Given the description of an element on the screen output the (x, y) to click on. 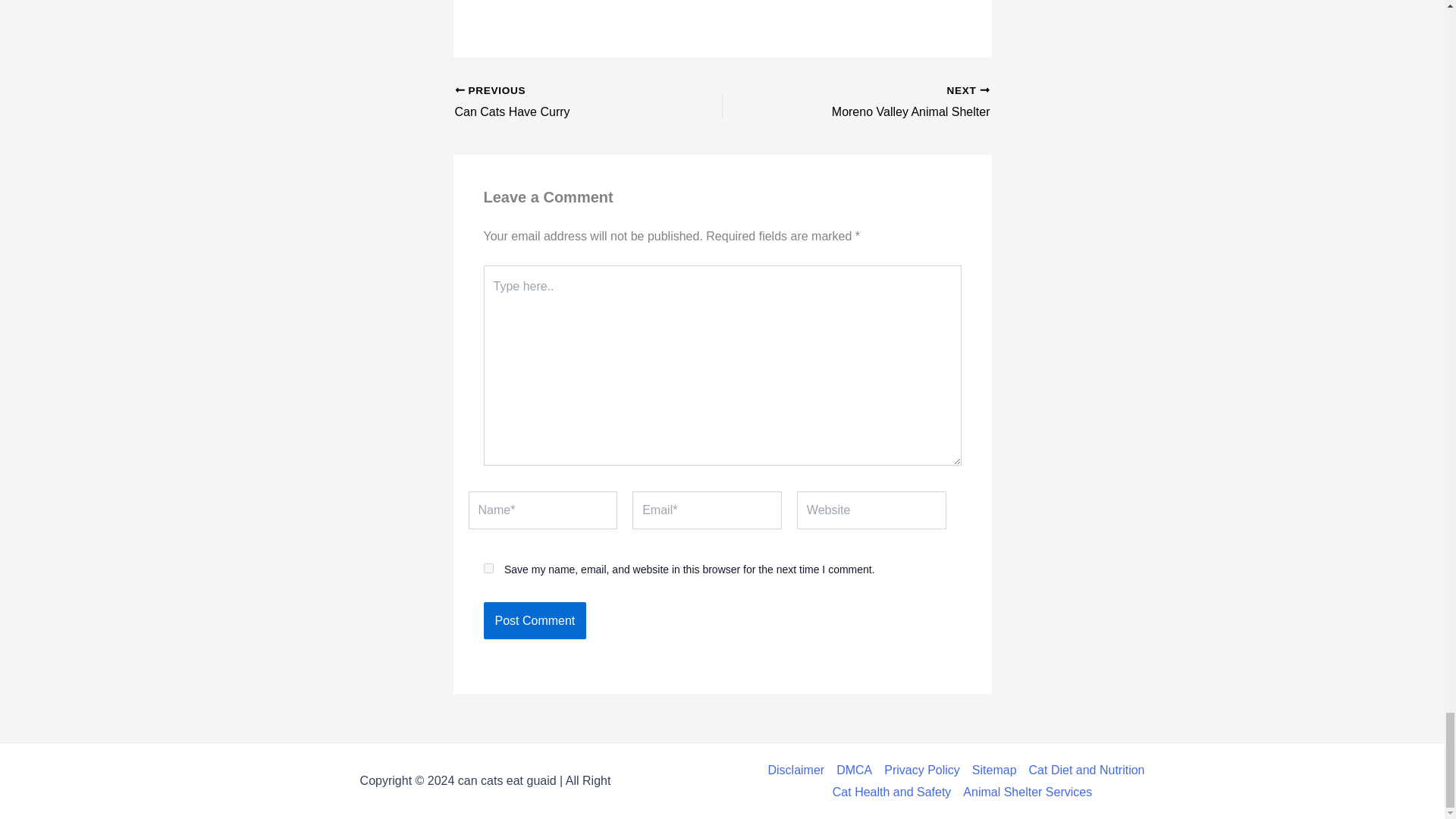
Animal Shelter Services (1024, 792)
Disclaimer (798, 770)
DMCA (561, 102)
Moreno Valley Animal Shelter (853, 770)
Post Comment (882, 102)
Can Cats Have Curry (534, 620)
Sitemap (561, 102)
Post Comment (994, 770)
Privacy Policy (534, 620)
yes (921, 770)
Cat Diet and Nutrition (488, 568)
Cat Health and Safety (1087, 770)
